Given the description of an element on the screen output the (x, y) to click on. 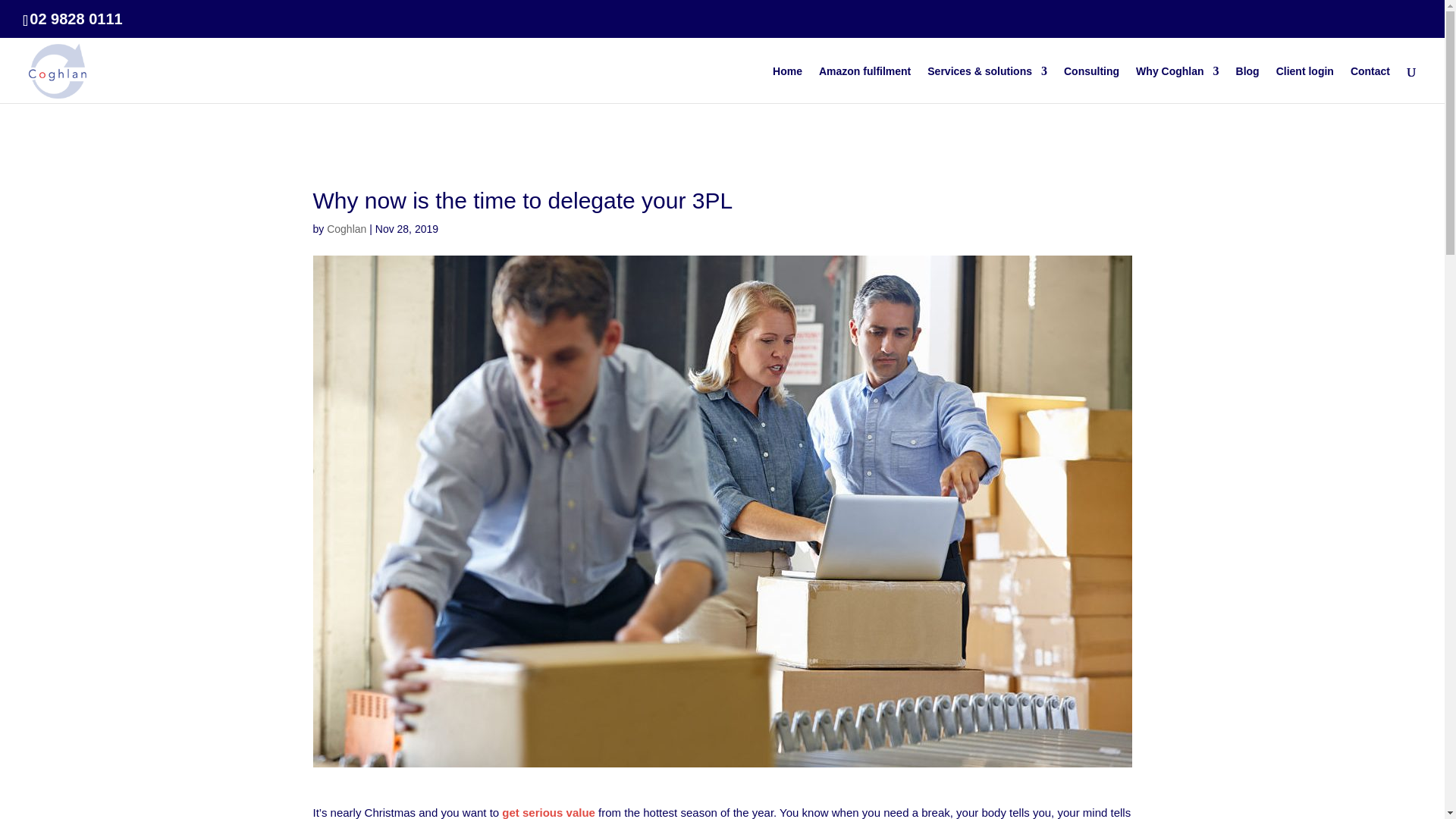
Client login (1304, 84)
Contact (1370, 84)
02 9828 0111 (75, 18)
Posts by Coghlan (346, 228)
Consulting (1091, 84)
Why Coghlan (1176, 84)
Amazon fulfilment (864, 84)
